Given the description of an element on the screen output the (x, y) to click on. 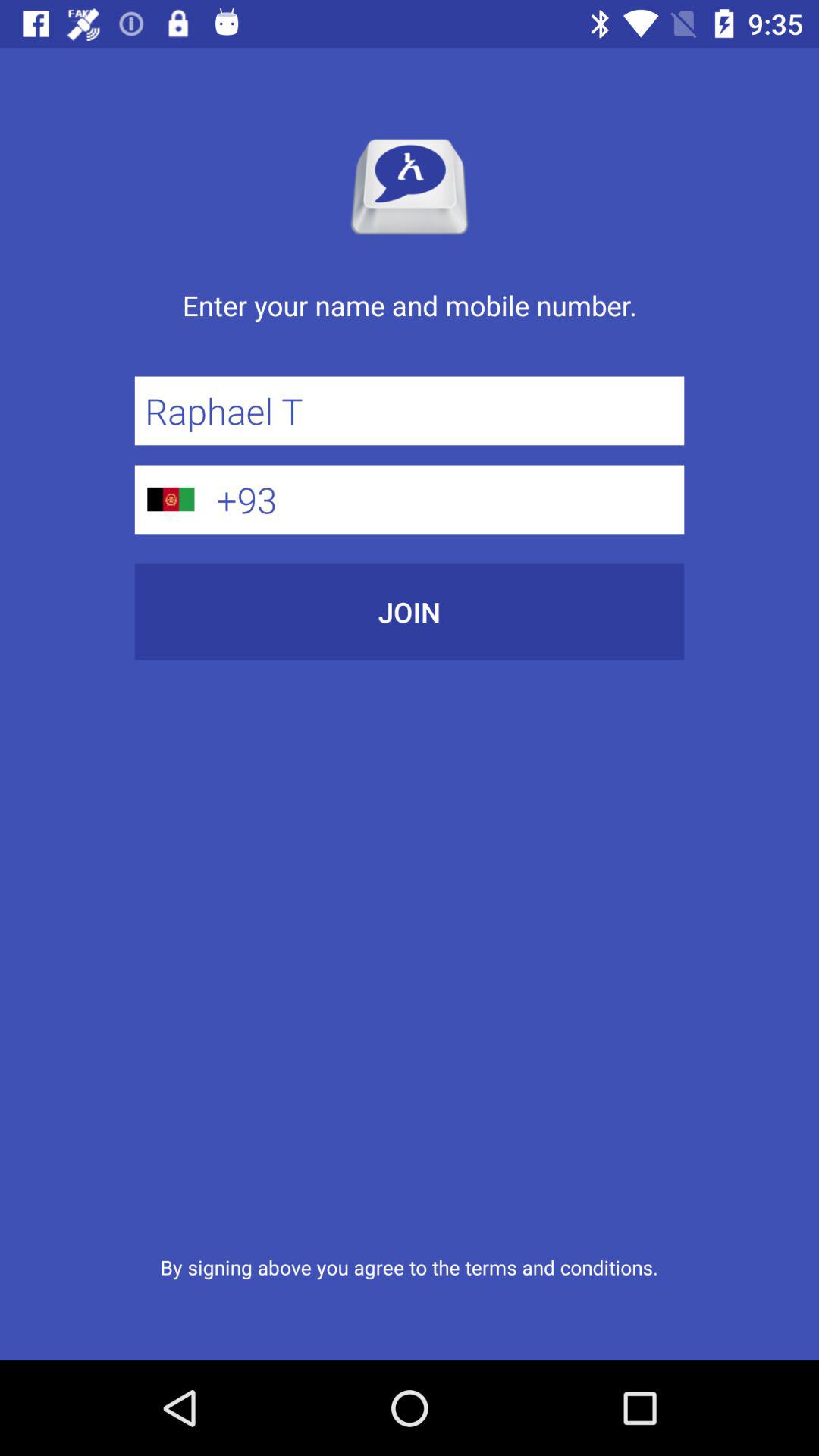
open icon below the raphael t icon (445, 499)
